Given the description of an element on the screen output the (x, y) to click on. 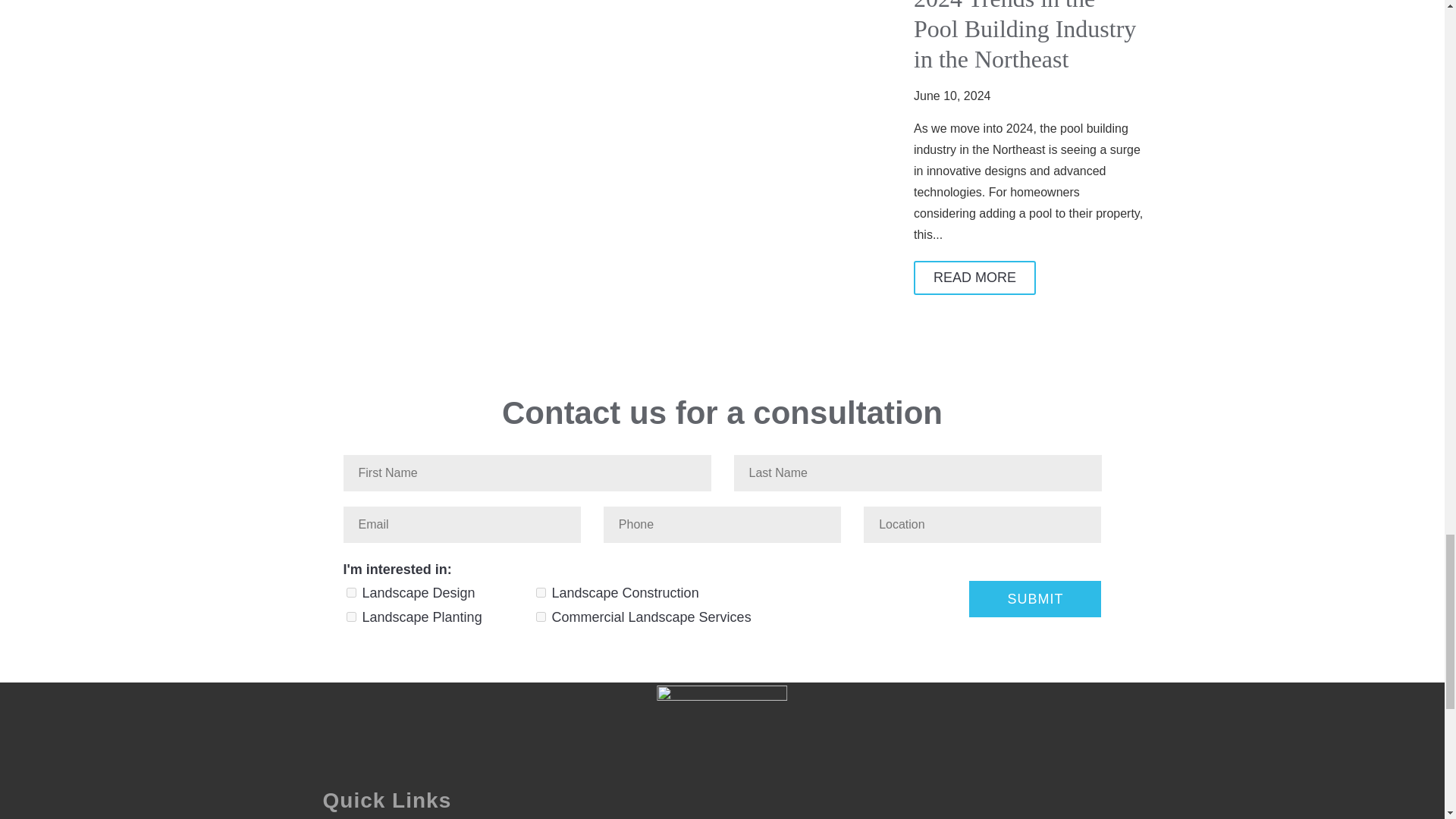
Landscape Construction (539, 592)
Commercial Landscape Services (539, 616)
Submit (1034, 598)
Landscape Planting (350, 616)
Landscape Design (350, 592)
